Given the description of an element on the screen output the (x, y) to click on. 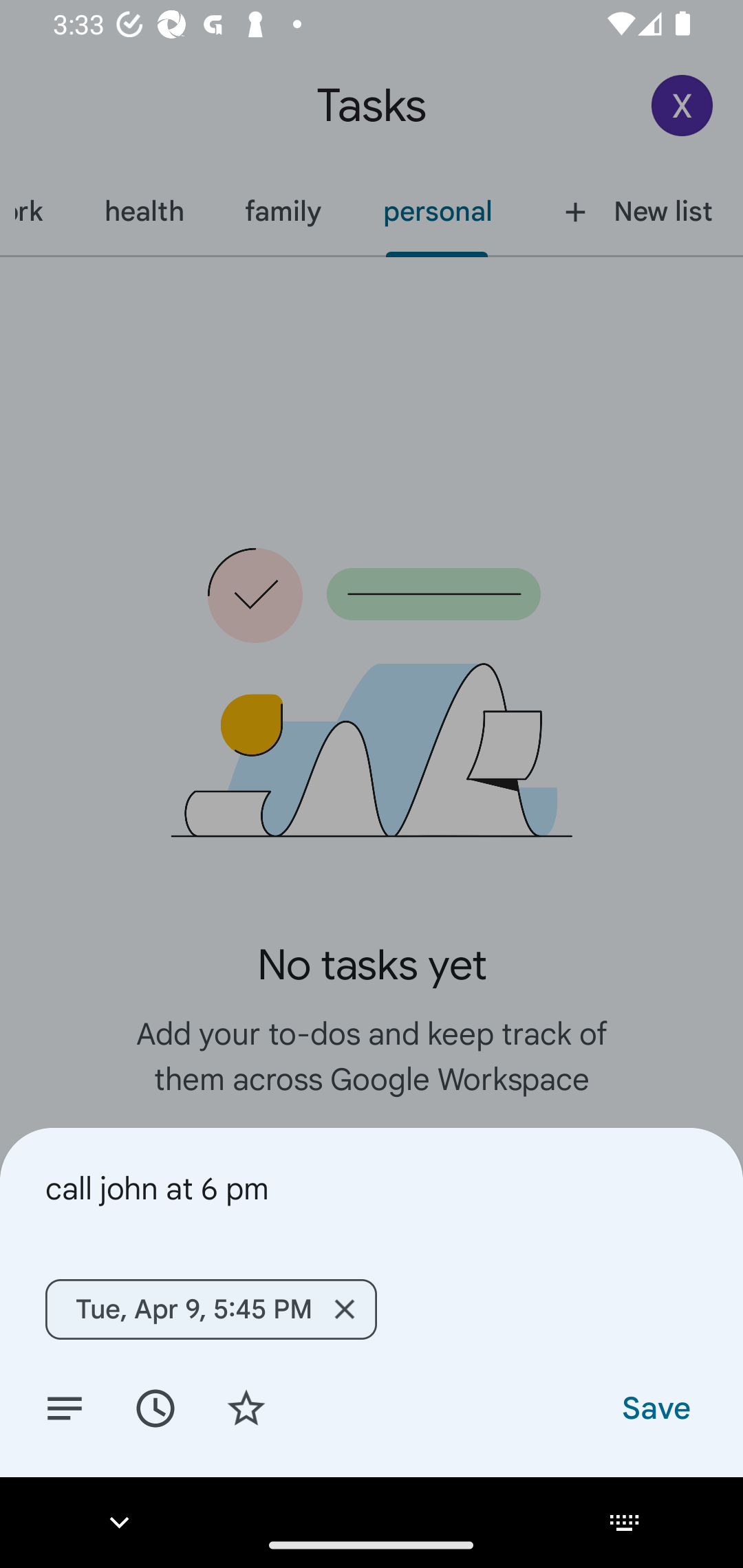
call john at 6 pm (371, 1188)
Tue, Apr 9, 5:45 PM Remove Tue, Apr 9, 5:45 PM (210, 1308)
Save (655, 1407)
Add details (64, 1407)
Set date/time (154, 1407)
Add star (245, 1407)
